Given the description of an element on the screen output the (x, y) to click on. 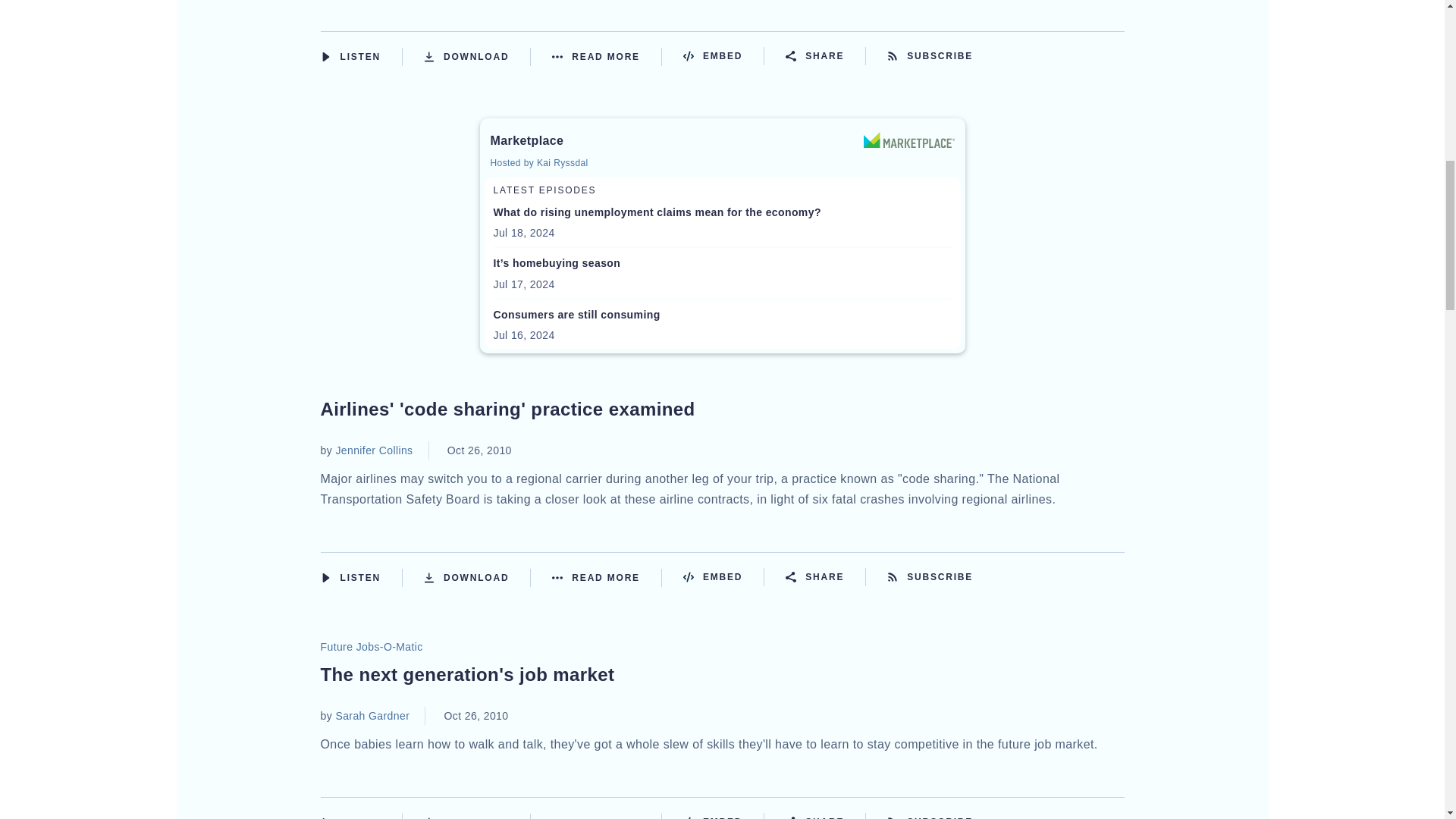
Download (477, 55)
LISTEN (325, 56)
Listen Now (360, 55)
Read More (606, 55)
